Given the description of an element on the screen output the (x, y) to click on. 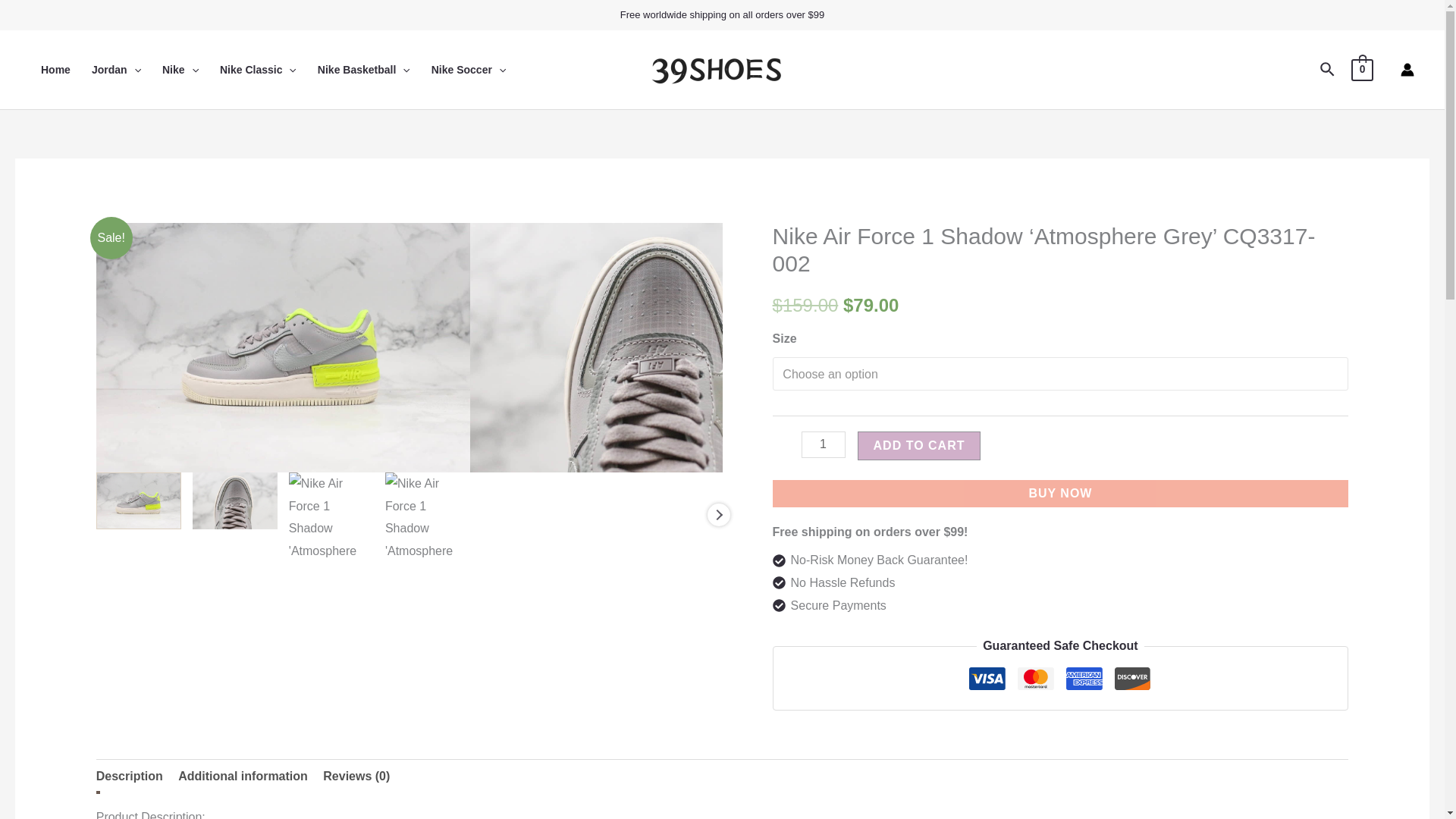
Shift-click to edit this widget. (722, 14)
Jordan (116, 69)
1 (823, 444)
